Given the description of an element on the screen output the (x, y) to click on. 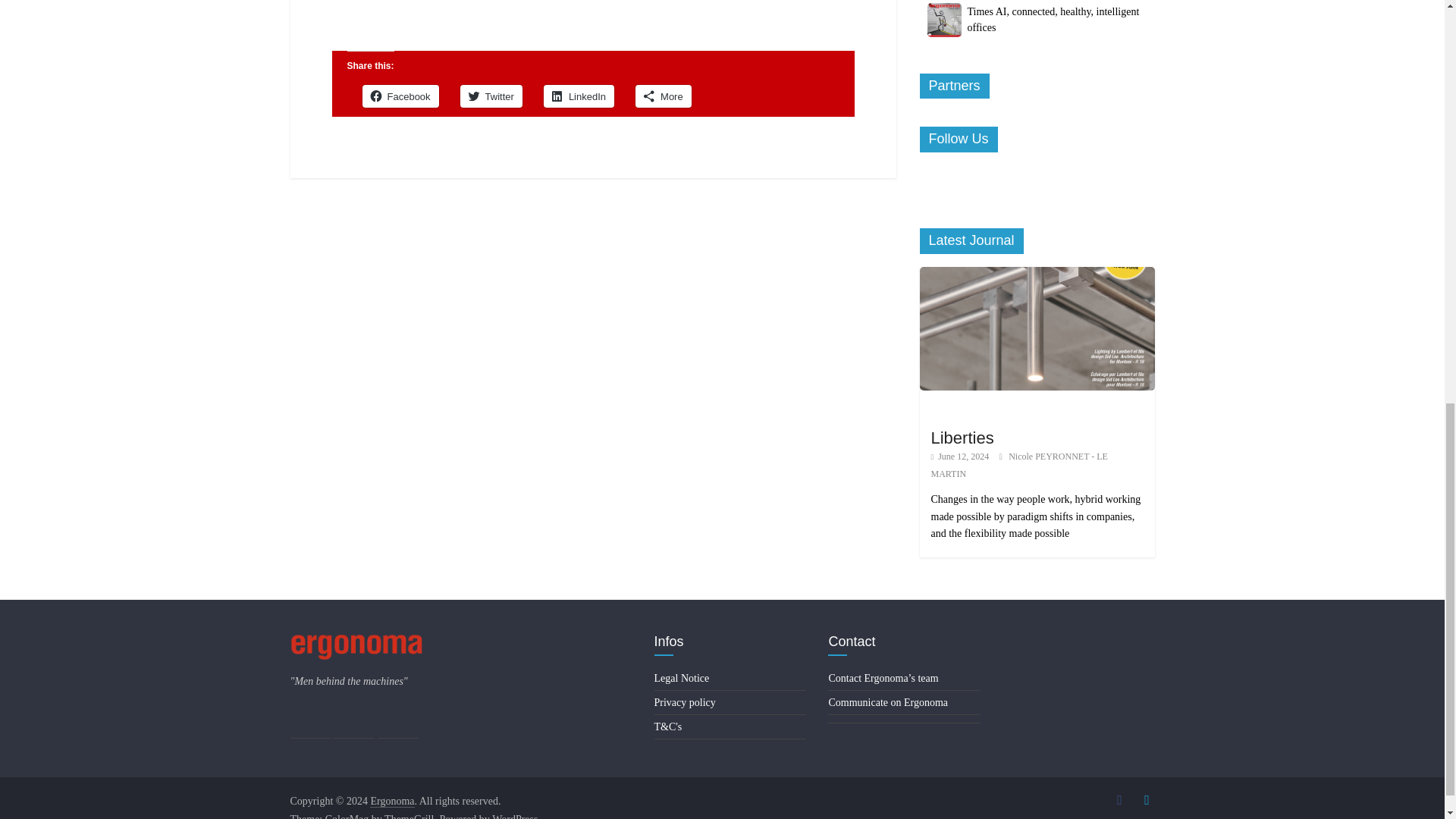
Liberties (1036, 274)
Click to share on Facebook (400, 96)
Liberties (1036, 328)
Liberties (962, 437)
Twitter (491, 96)
Click to share on Twitter (491, 96)
Facebook (400, 96)
More (662, 96)
Click to share on LinkedIn (578, 96)
LinkedIn (578, 96)
5:13 pm (960, 456)
Nicole PEYRONNET - LE MARTIN (1019, 464)
